Given the description of an element on the screen output the (x, y) to click on. 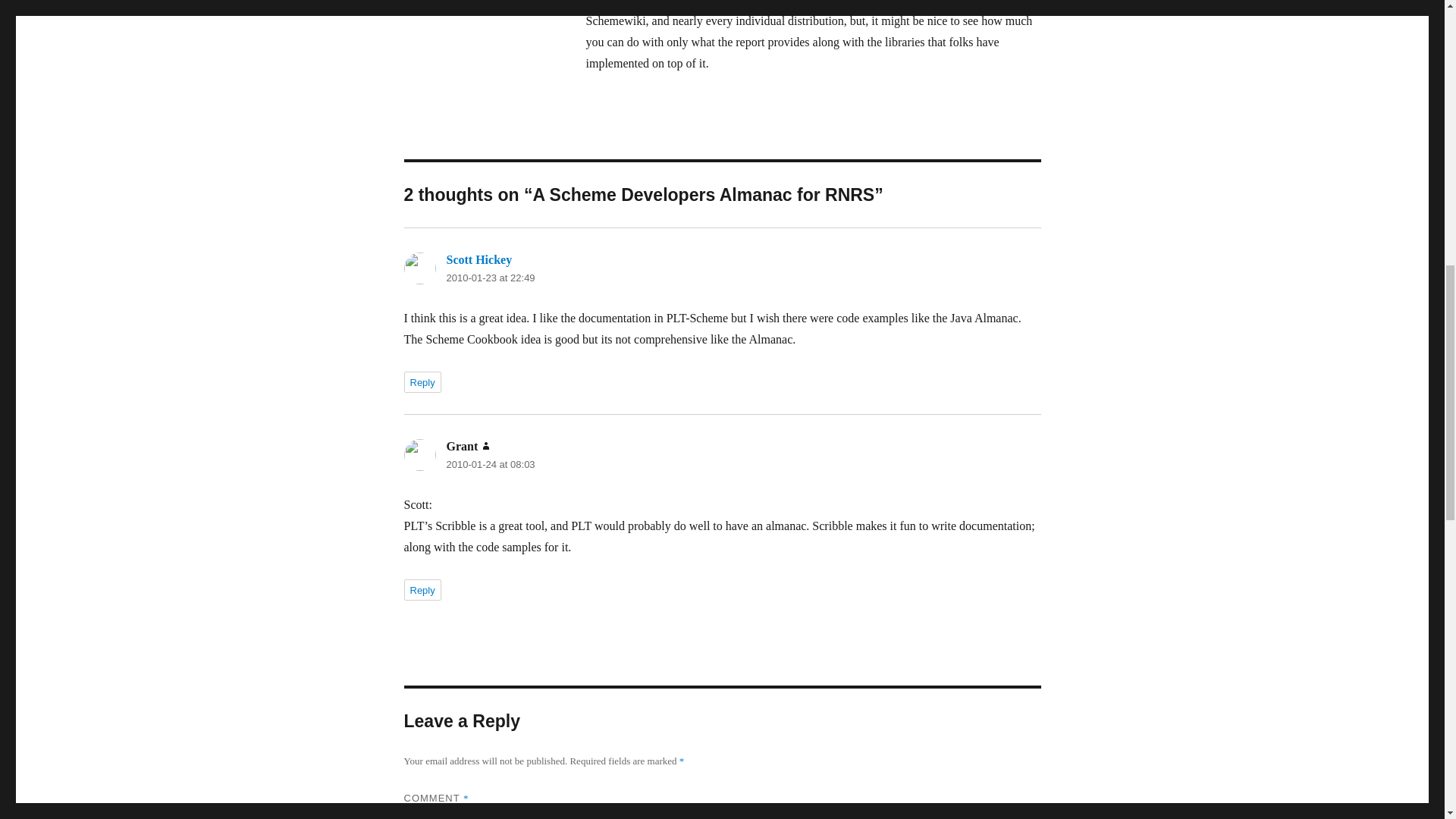
2010-01-24 at 08:03 (489, 464)
Scott Hickey (478, 259)
Reply (422, 589)
2010-01-23 at 22:49 (489, 277)
Reply (422, 382)
